Given the description of an element on the screen output the (x, y) to click on. 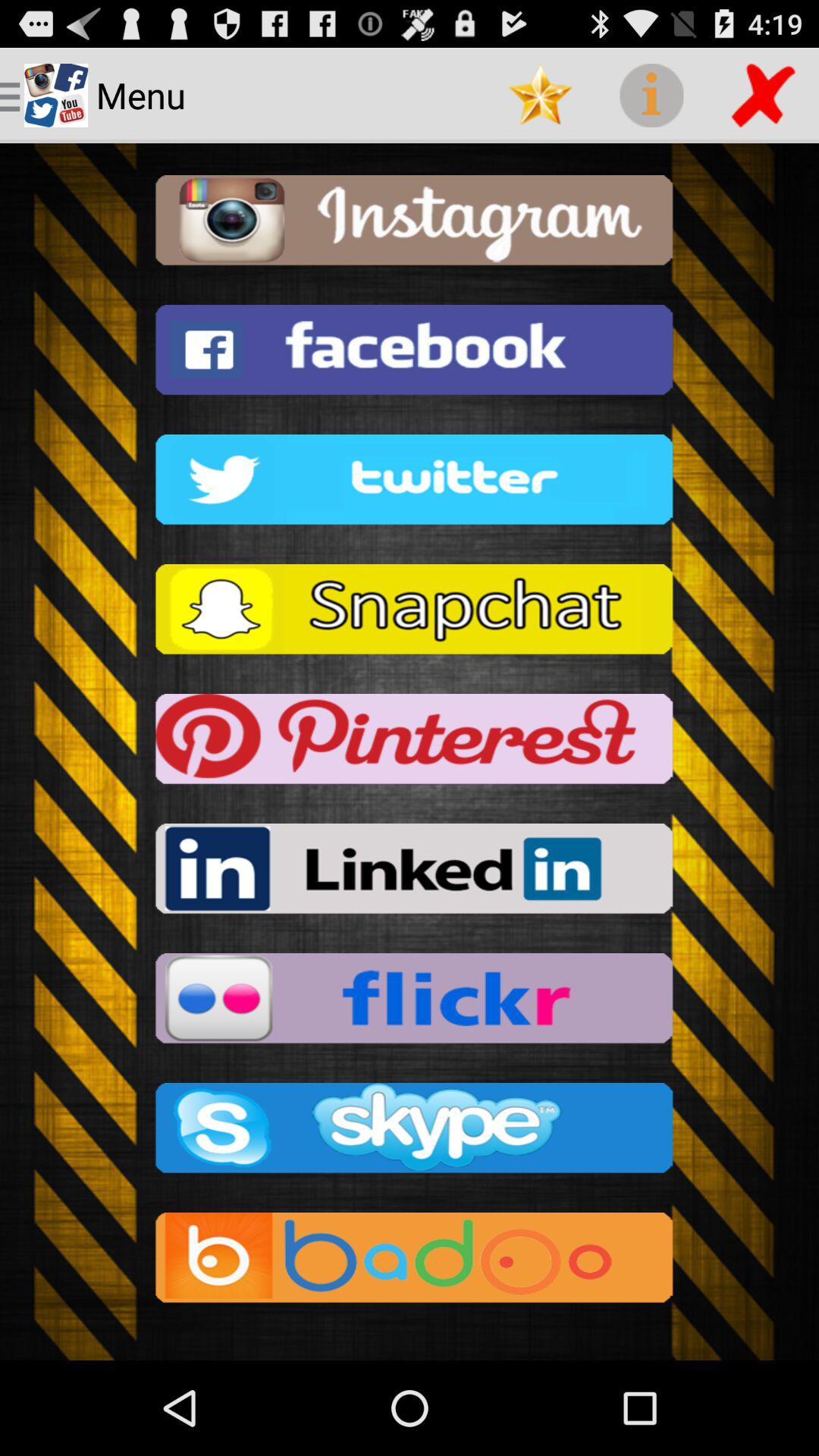
skype button (409, 1132)
